Given the description of an element on the screen output the (x, y) to click on. 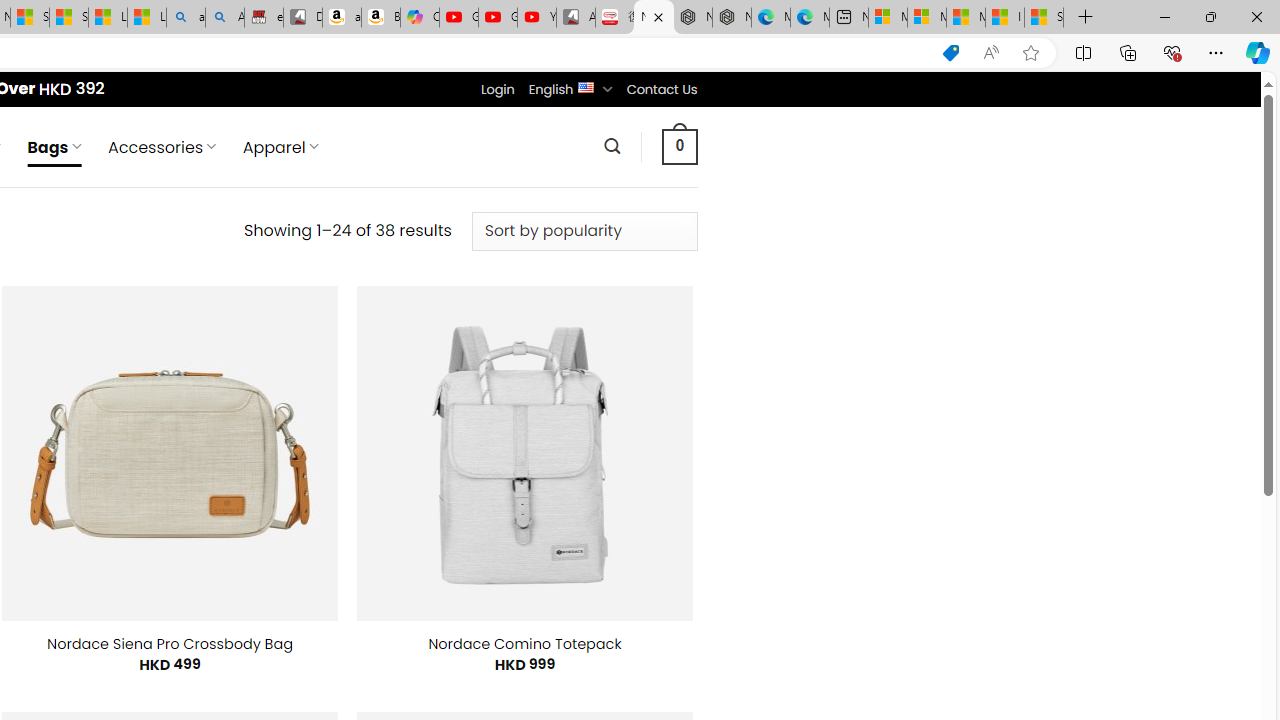
Copilot (419, 17)
Login (497, 89)
Nordace Comino Totepack (524, 643)
  0   (679, 146)
Amazon Echo Dot PNG - Search Images (225, 17)
Microsoft account | Privacy (926, 17)
Nordace Siena Pro Crossbody Bag (170, 643)
Nordace - Nordace has arrived Hong Kong (732, 17)
English (586, 86)
